Given the description of an element on the screen output the (x, y) to click on. 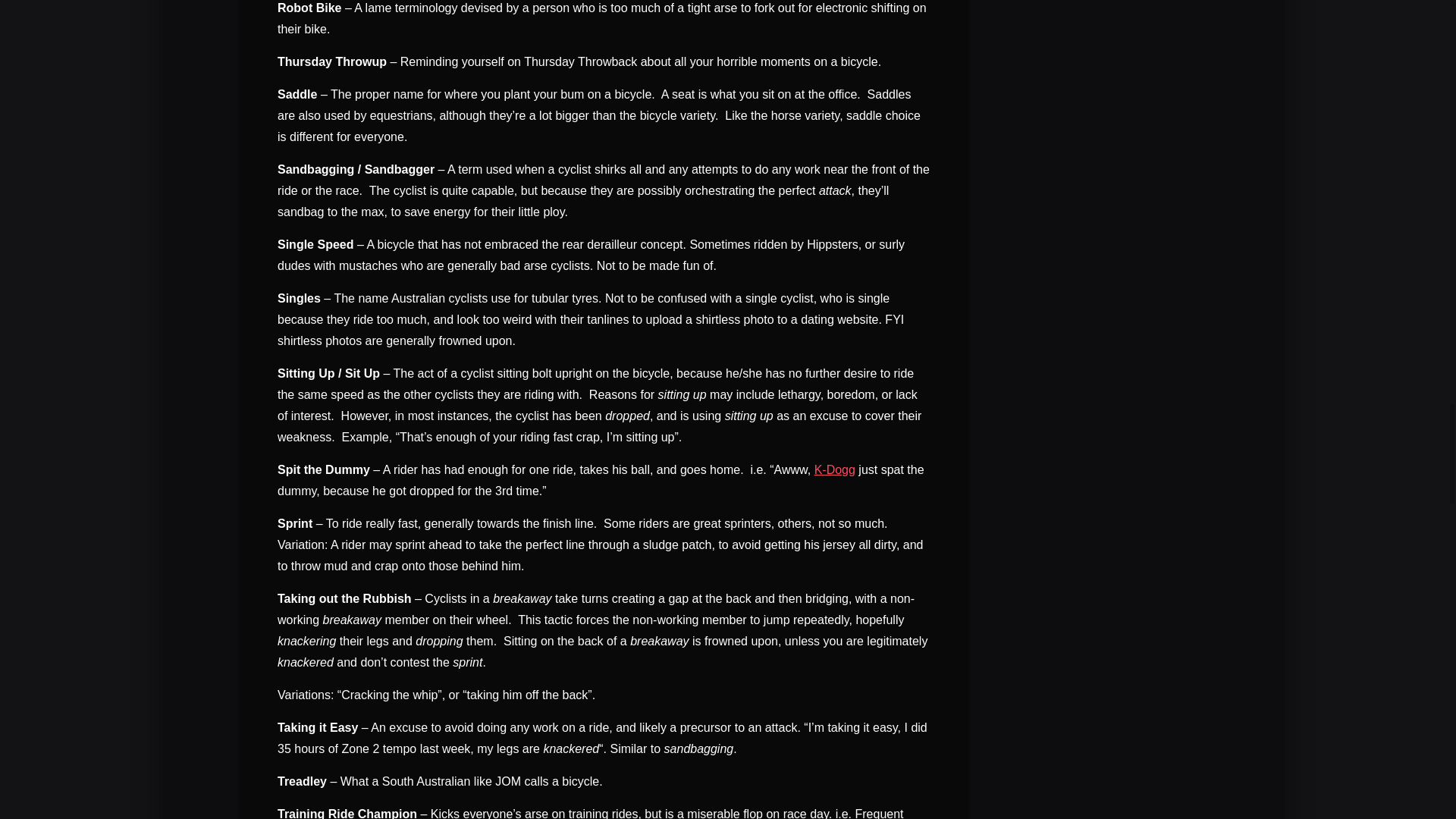
Cast Members (834, 469)
K-Dogg (834, 469)
